Given the description of an element on the screen output the (x, y) to click on. 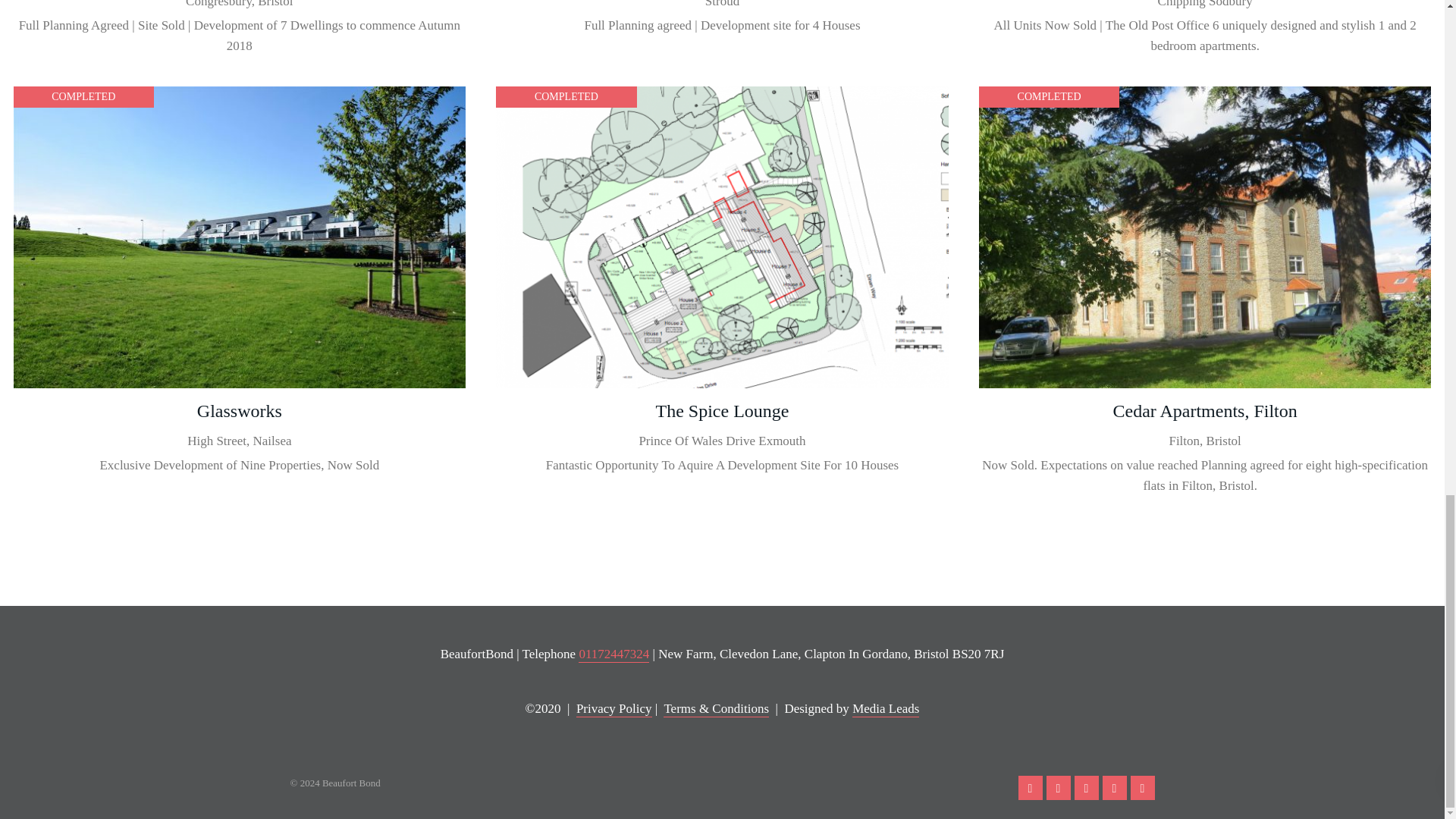
Yeo Court, Mill Lane (239, 31)
Frampton Mansell, Stroud (721, 31)
The Old Post Office (1205, 31)
